Given the description of an element on the screen output the (x, y) to click on. 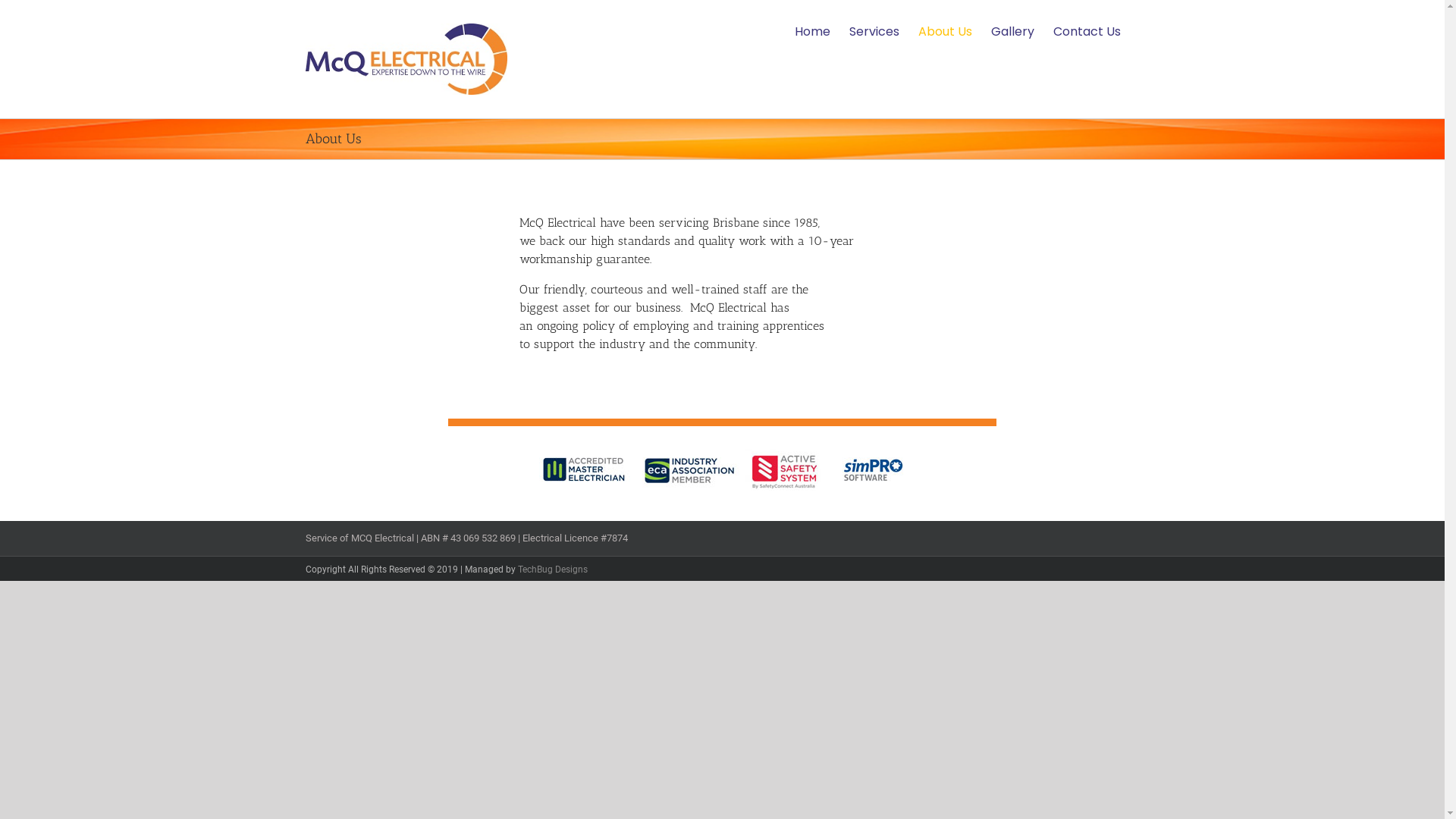
Gallery Element type: text (1011, 31)
Services Element type: text (874, 31)
About Us Element type: text (944, 31)
Home Element type: text (812, 31)
Contact Us Element type: text (1086, 31)
TechBug Designs Element type: text (551, 569)
